Given the description of an element on the screen output the (x, y) to click on. 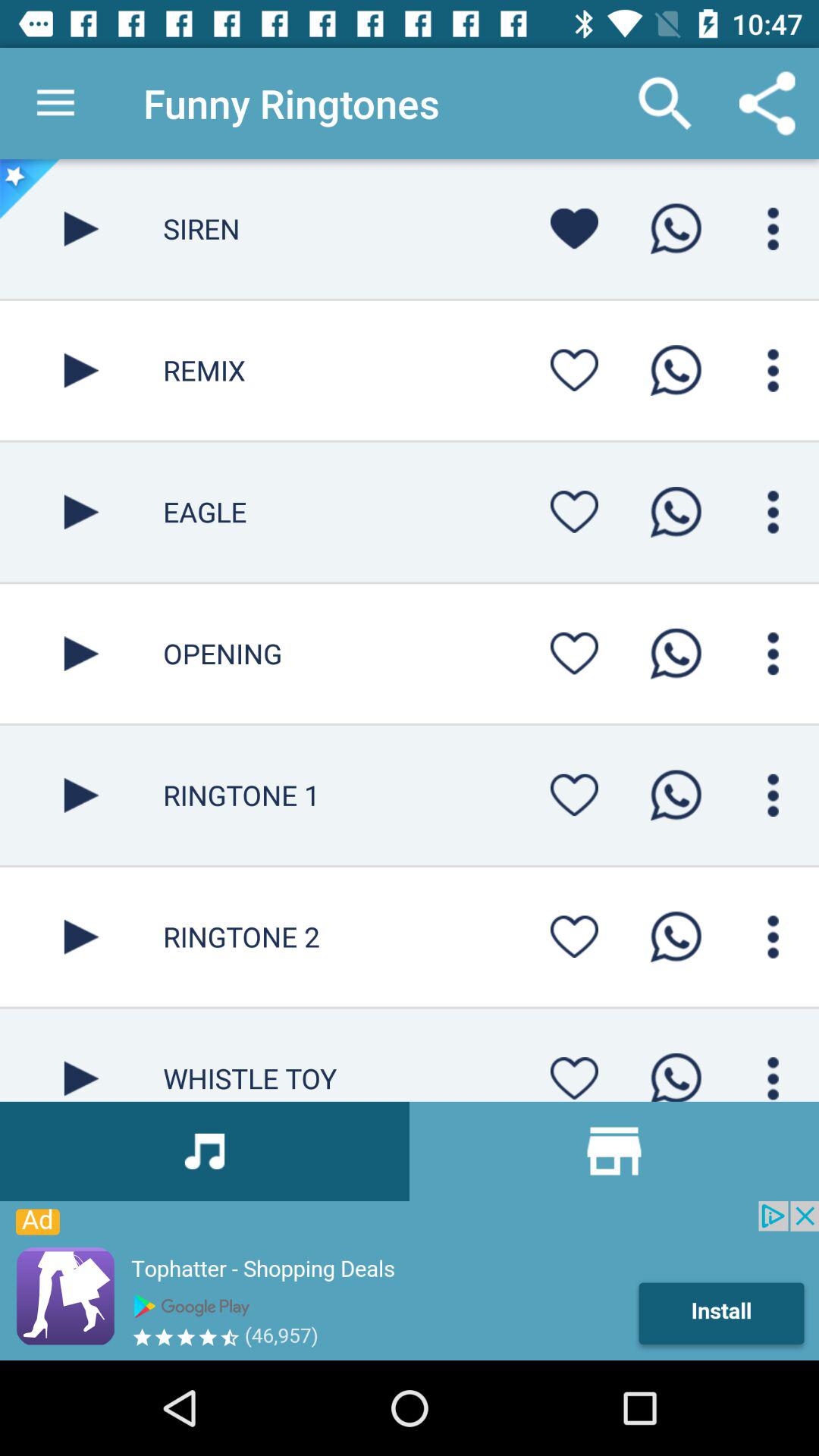
options (773, 936)
